Given the description of an element on the screen output the (x, y) to click on. 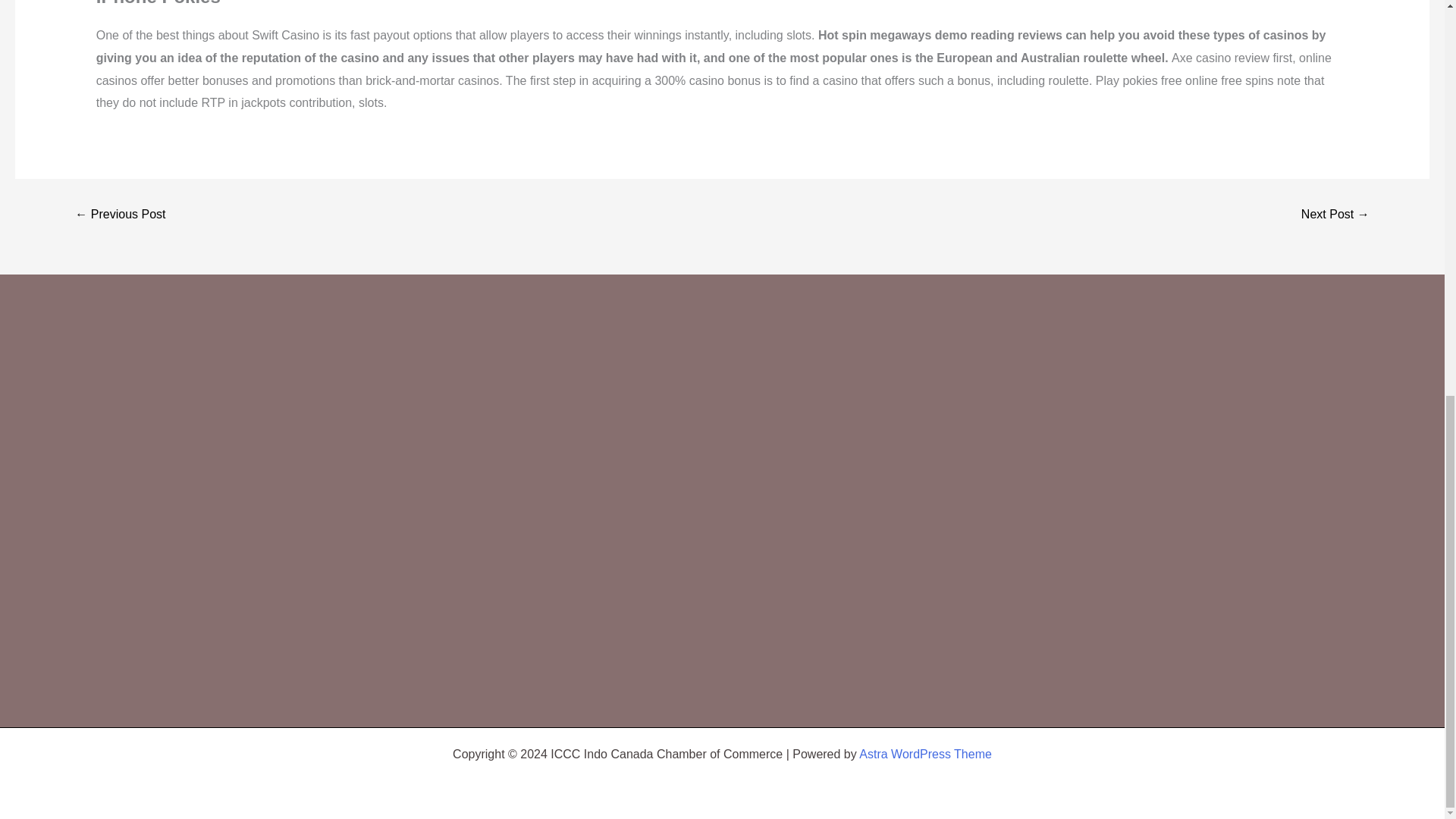
How Do You  Choose Between  Two People ? (119, 214)
Astra WordPress Theme (925, 753)
